Given the description of an element on the screen output the (x, y) to click on. 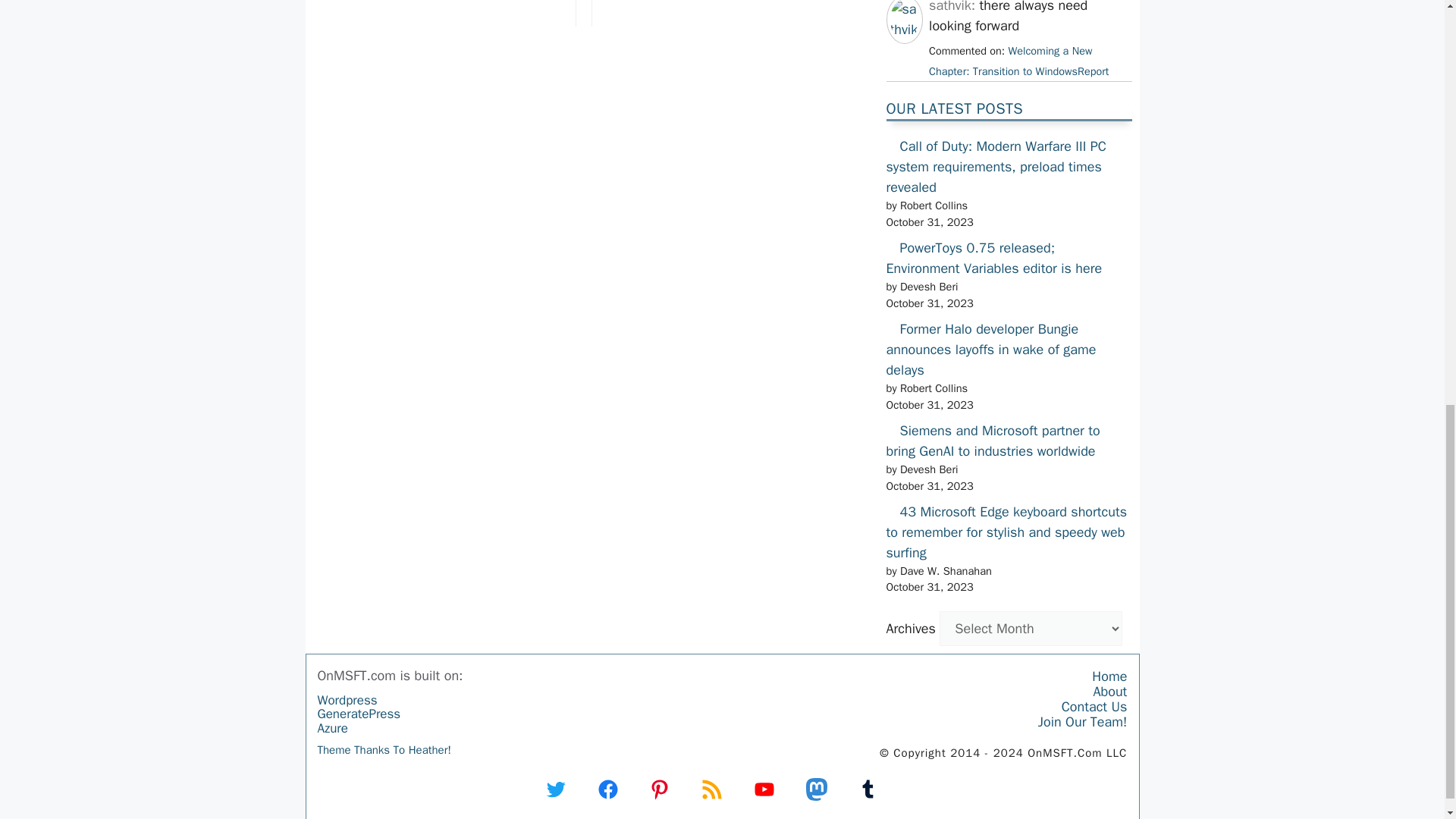
May 20, 2024 (1018, 60)
sathvik (904, 29)
